Given the description of an element on the screen output the (x, y) to click on. 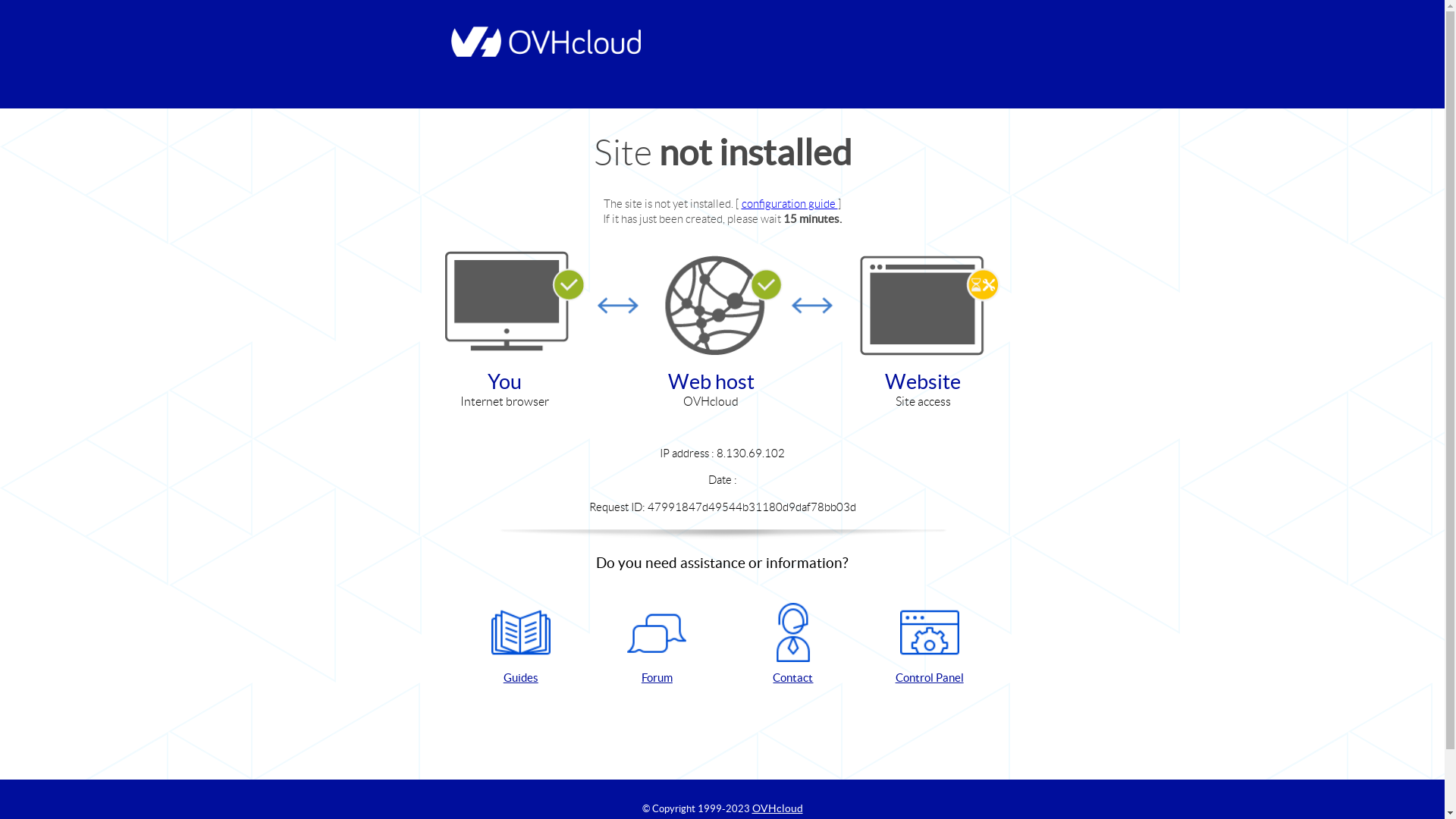
OVHcloud Element type: text (777, 808)
Guides Element type: text (520, 644)
Forum Element type: text (656, 644)
configuration guide Element type: text (789, 203)
Contact Element type: text (792, 644)
Control Panel Element type: text (929, 644)
